Given the description of an element on the screen output the (x, y) to click on. 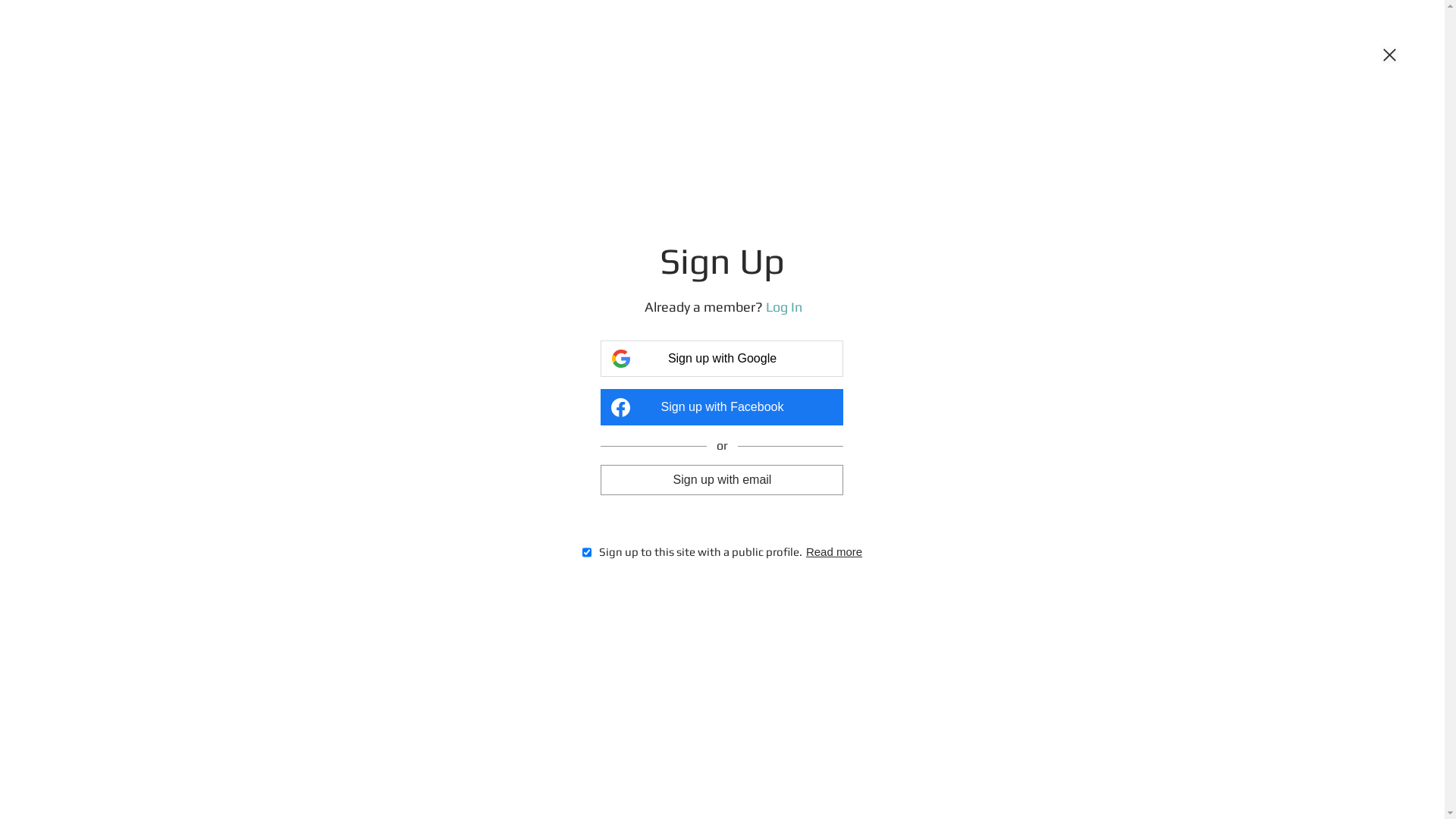
Log In Element type: text (783, 306)
Read more Element type: text (834, 551)
Sign up with Facebook Element type: text (721, 407)
Sign up with email Element type: text (721, 479)
Sign up with Google Element type: text (721, 358)
